Given the description of an element on the screen output the (x, y) to click on. 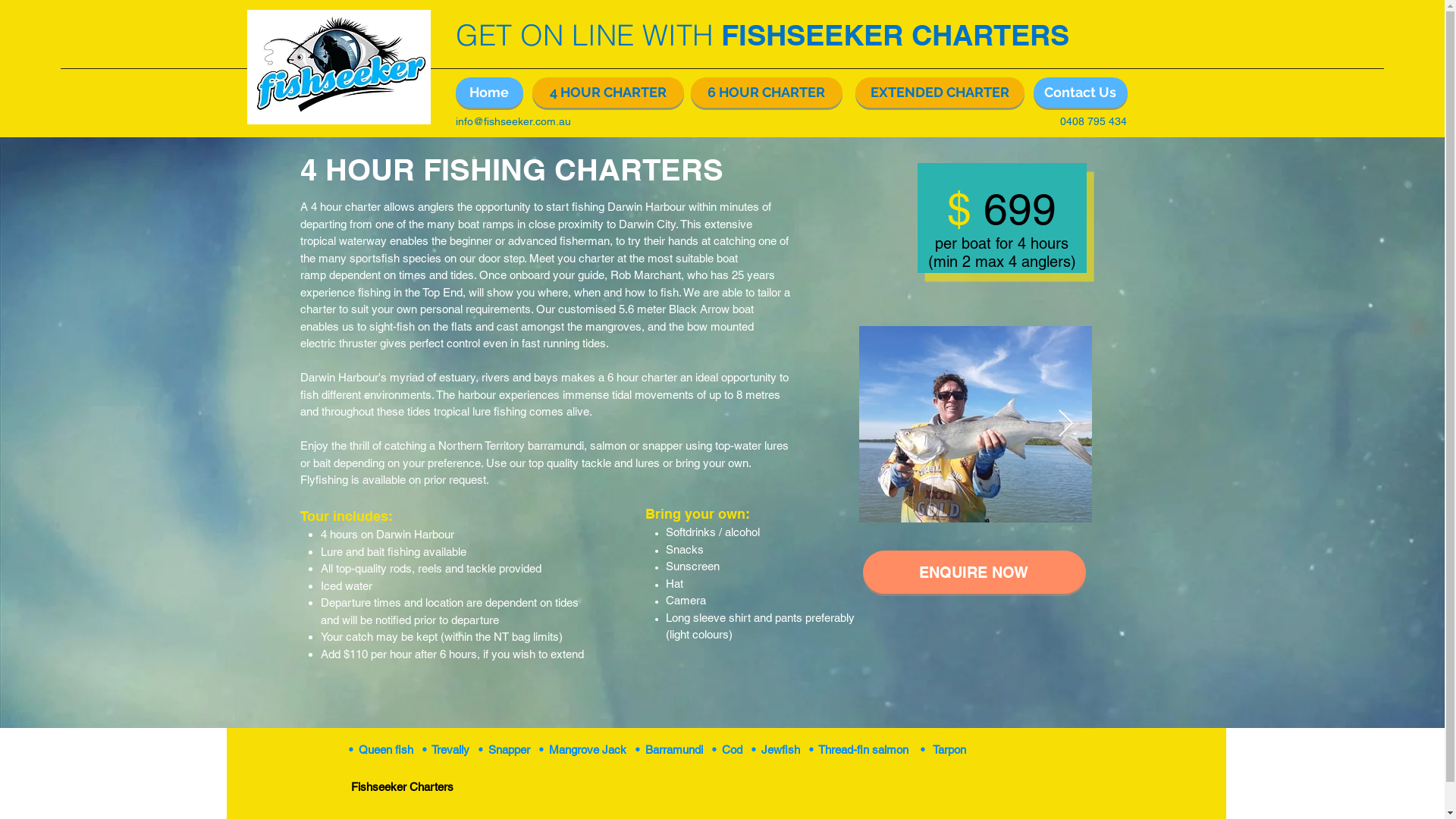
info@fishseeker.com.au Element type: text (512, 121)
ENQUIRE NOW Element type: text (973, 571)
Contact Us Element type: text (1079, 92)
EXTENDED CHARTER Element type: text (939, 92)
6 HOUR CHARTER Element type: text (765, 92)
4 HOUR CHARTER Element type: text (608, 92)
Home Element type: text (488, 92)
